Given the description of an element on the screen output the (x, y) to click on. 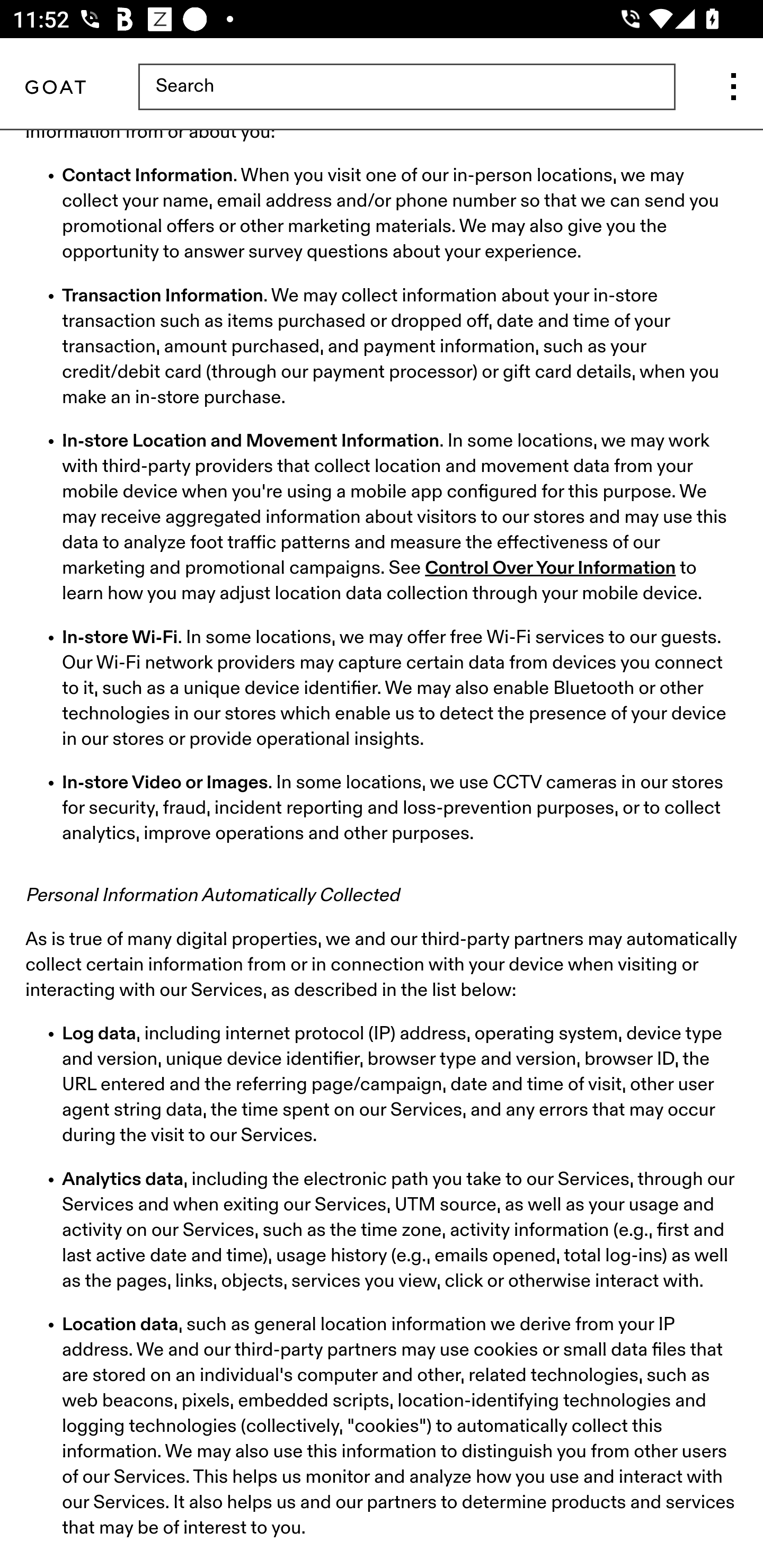
Search (406, 87)
menu (733, 87)
Goat Logo (55, 87)
Control Over Your Information (550, 569)
